Given the description of an element on the screen output the (x, y) to click on. 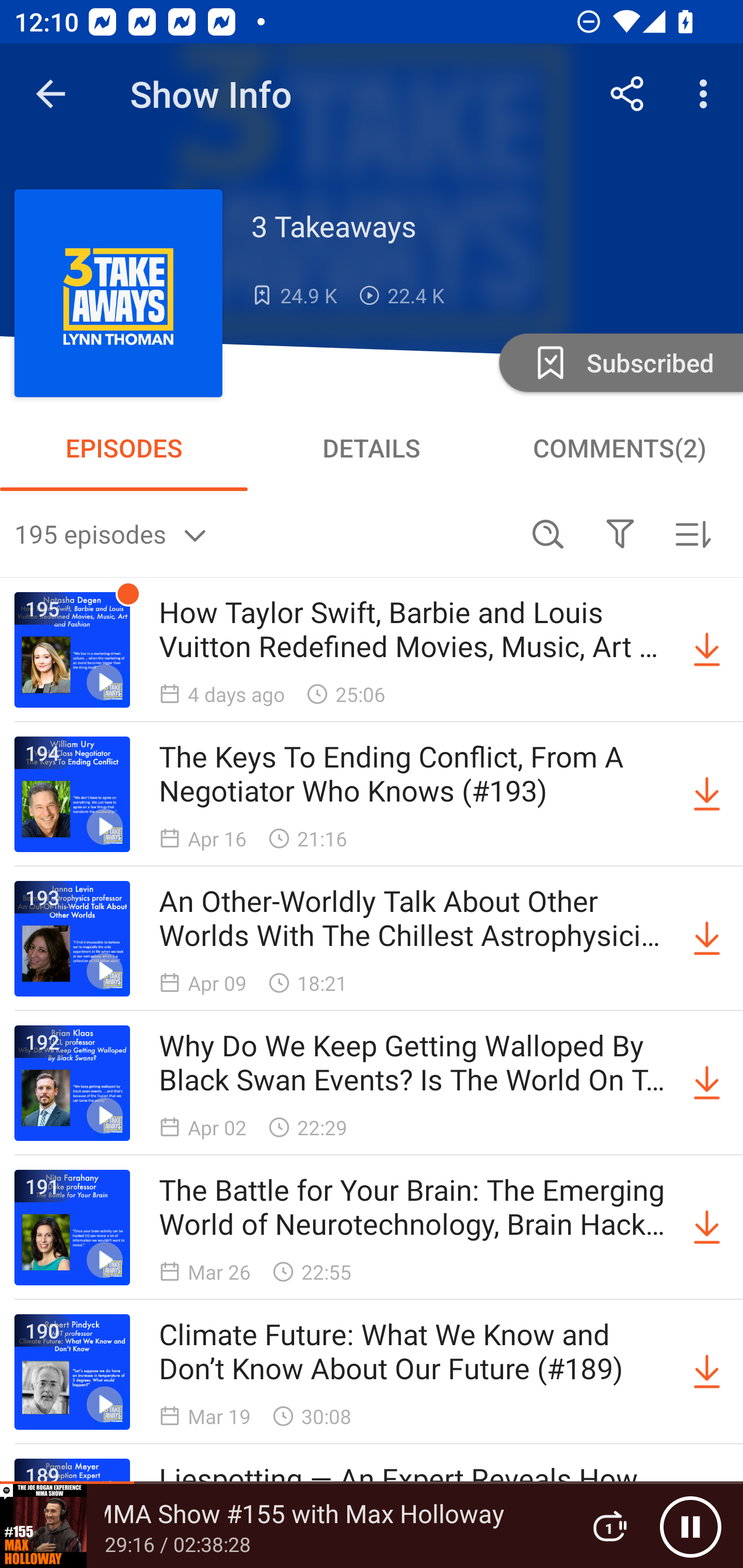
Navigate up (50, 93)
Share (626, 93)
More options (706, 93)
Unsubscribe Subscribed (619, 361)
EPISODES (123, 447)
DETAILS (371, 447)
COMMENTS(2) (619, 447)
195 episodes  (262, 533)
 Search (547, 533)
 (619, 533)
 Sorted by newest first (692, 533)
Download (706, 649)
Download (706, 793)
Download (706, 939)
Download (706, 1083)
Download (706, 1227)
Download (706, 1371)
Pause (690, 1526)
